Given the description of an element on the screen output the (x, y) to click on. 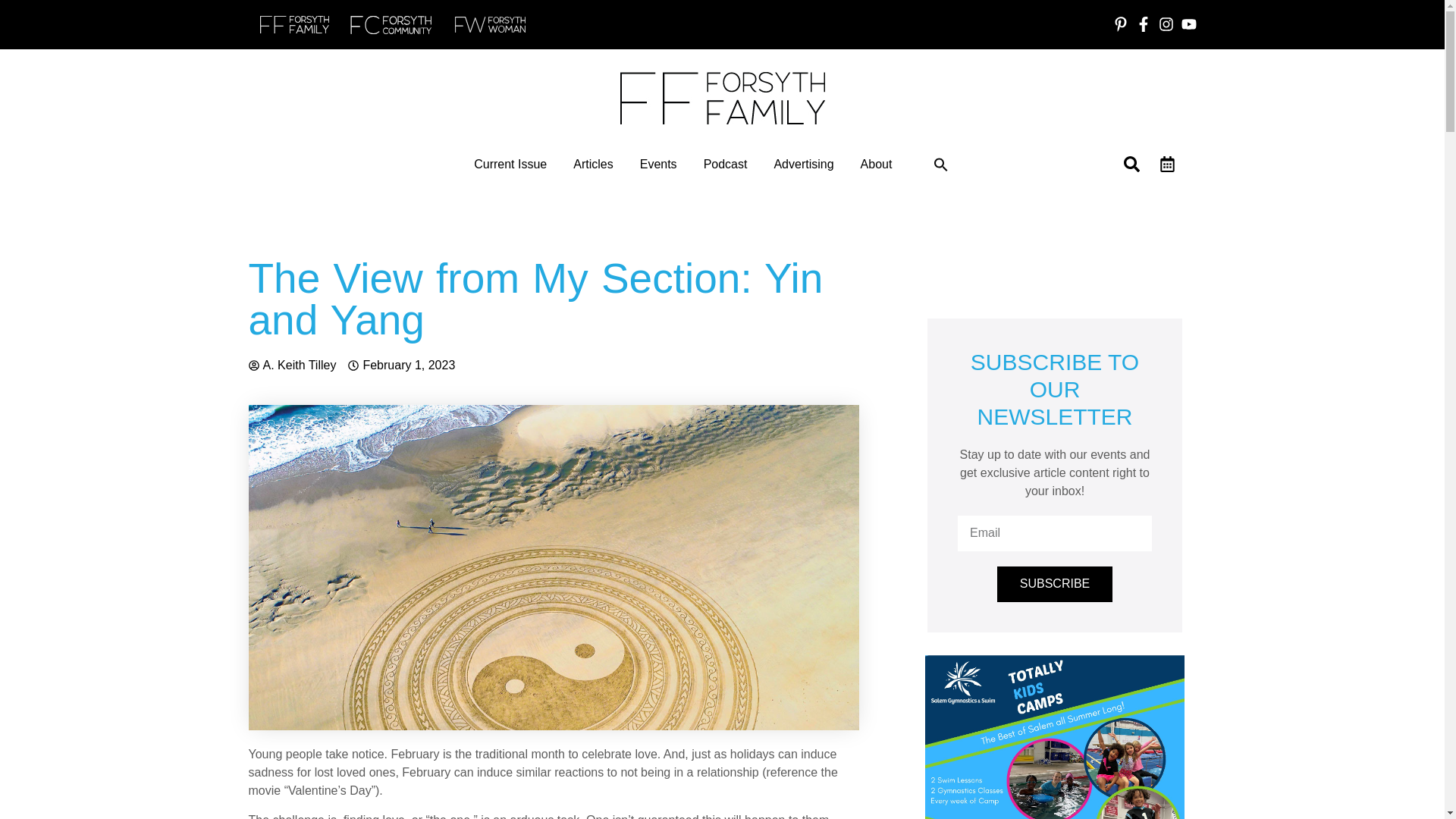
About (876, 164)
Events (658, 164)
Current Issue (510, 164)
Advertising (802, 164)
Articles (592, 164)
Podcast (725, 164)
